Given the description of an element on the screen output the (x, y) to click on. 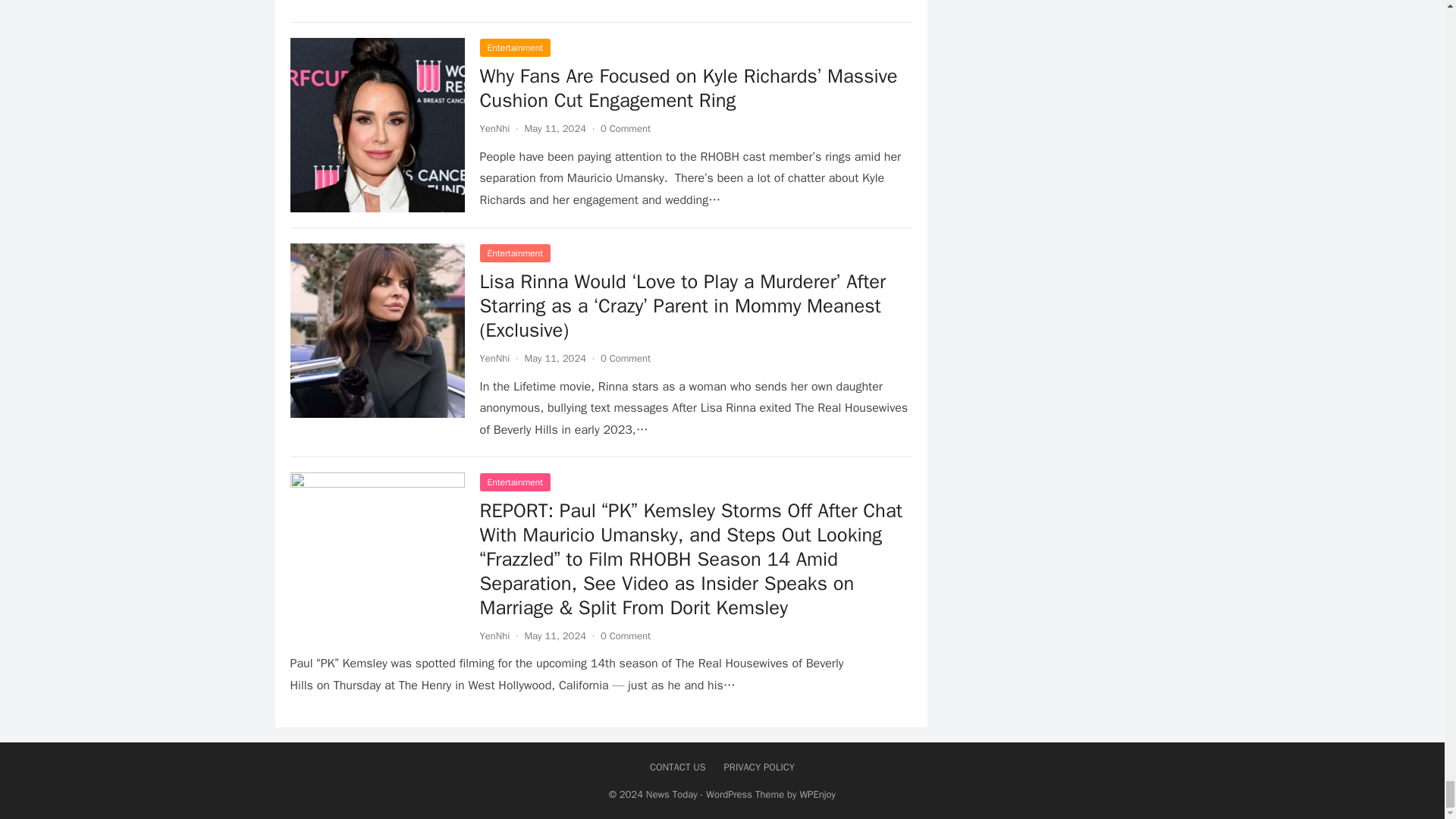
YenNhi (494, 128)
Entertainment (514, 47)
Posts by YenNhi (494, 128)
Posts by YenNhi (494, 635)
Posts by YenNhi (494, 358)
0 Comment (624, 128)
